Given the description of an element on the screen output the (x, y) to click on. 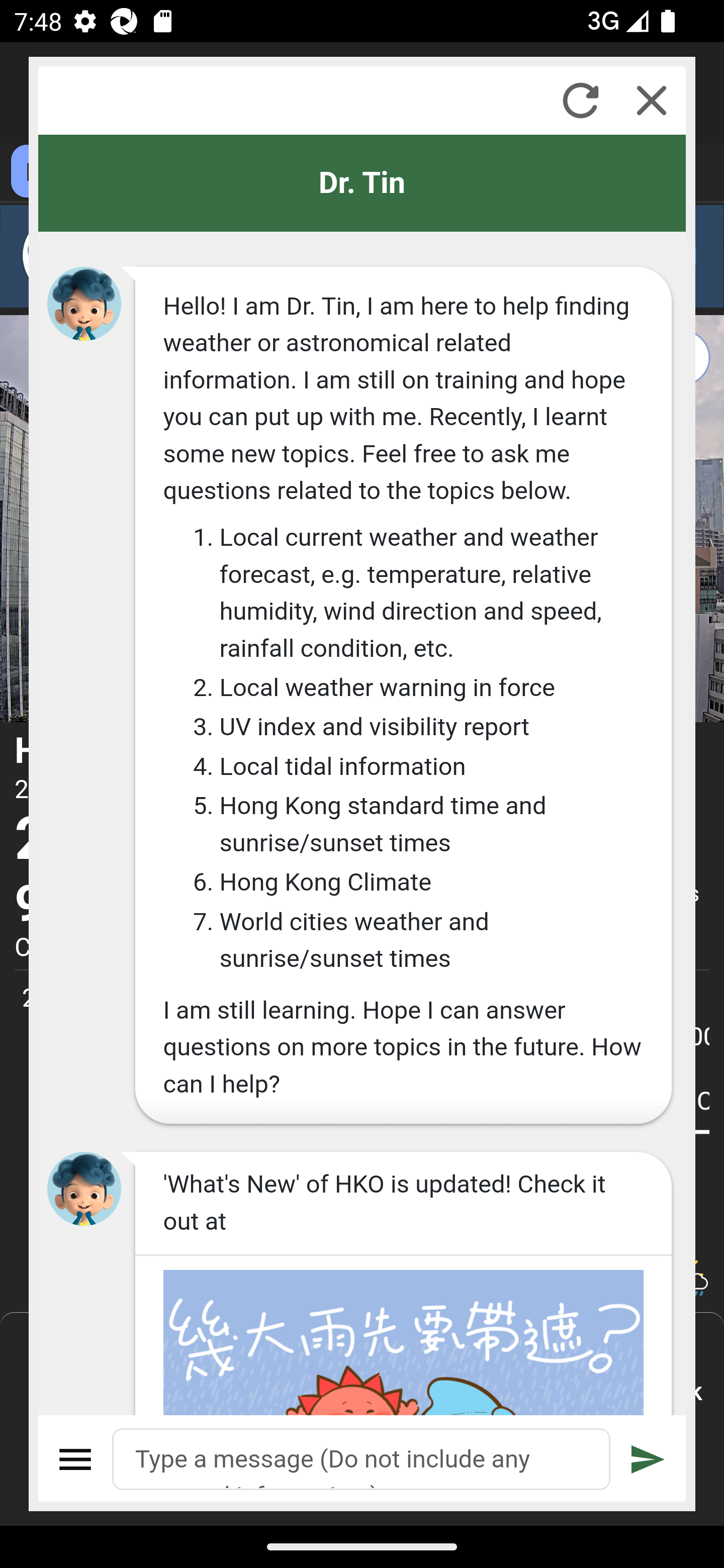
Refresh (580, 100)
Close (651, 100)
Menu (75, 1458)
Submit (648, 1458)
